Given the description of an element on the screen output the (x, y) to click on. 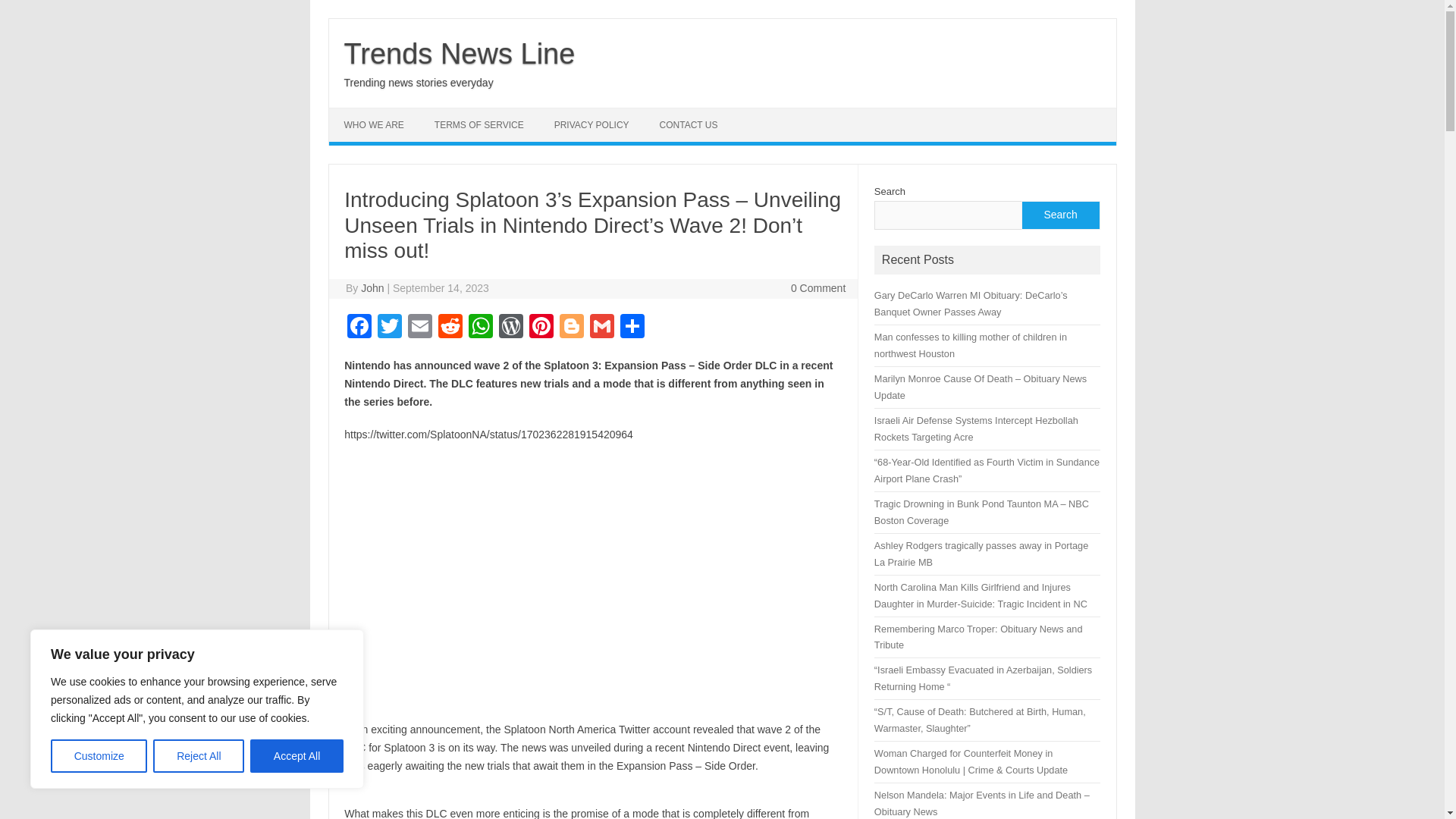
WHO WE ARE (374, 124)
WhatsApp (480, 327)
WordPress (510, 327)
Reddit (450, 327)
Customize (98, 756)
Reddit (450, 327)
Facebook (358, 327)
Trends News Line (459, 53)
Trending news stories everyday (418, 82)
